Given the description of an element on the screen output the (x, y) to click on. 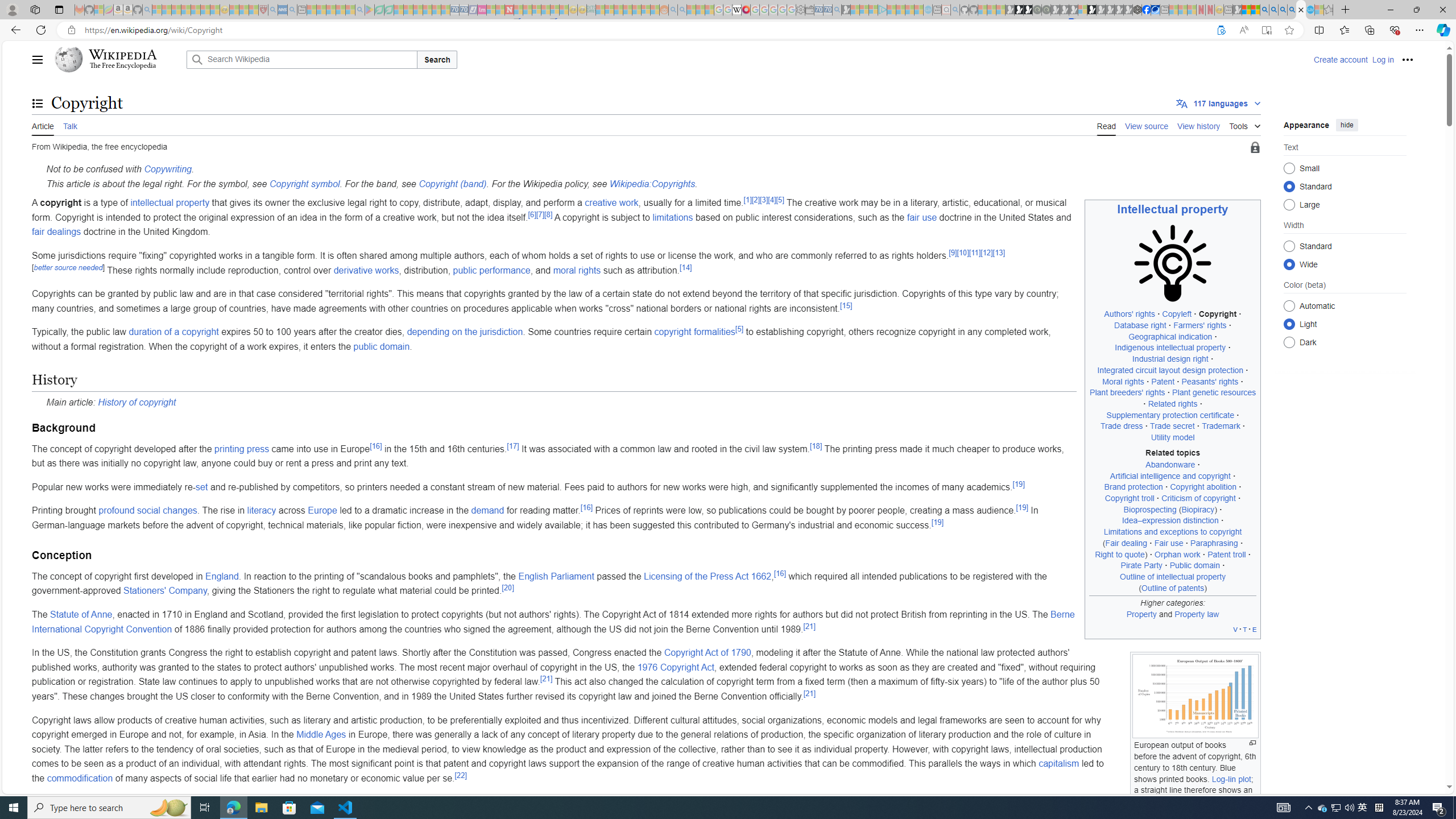
The Free Encyclopedia (121, 65)
To get missing image descriptions, open the context menu. (1172, 263)
Wikipedia The Free Encyclopedia (117, 59)
duration of a copyright (173, 331)
Cheap Hotels - Save70.com - Sleeping (463, 9)
Bluey: Let's Play! - Apps on Google Play - Sleeping (369, 9)
[7] (539, 213)
2009 Bing officially replaced Live Search on June 3 - Search (1272, 9)
public performance (490, 270)
